Given the description of an element on the screen output the (x, y) to click on. 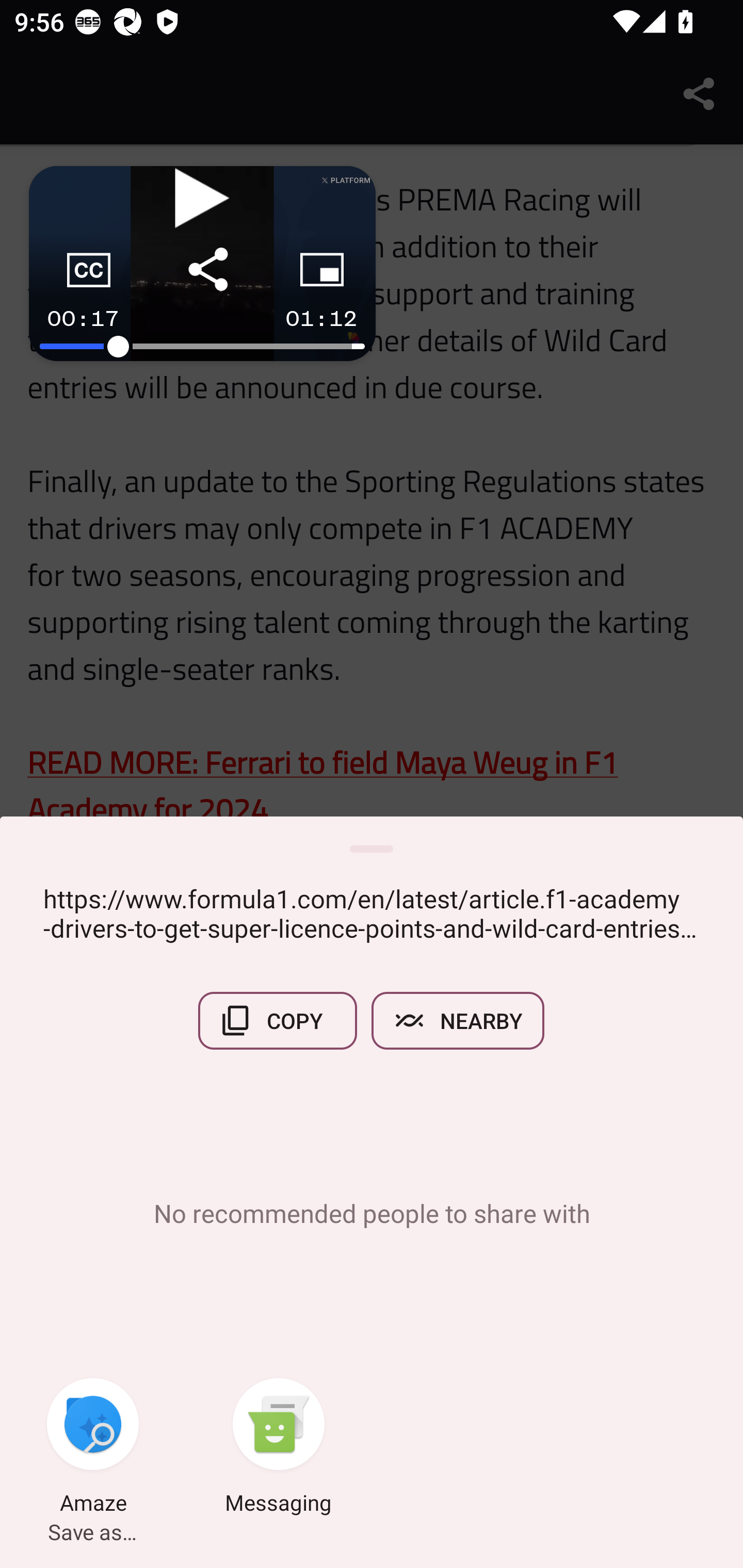
COPY (277, 1020)
NEARBY (457, 1020)
Amaze Save as… (92, 1448)
Messaging (278, 1448)
